Given the description of an element on the screen output the (x, y) to click on. 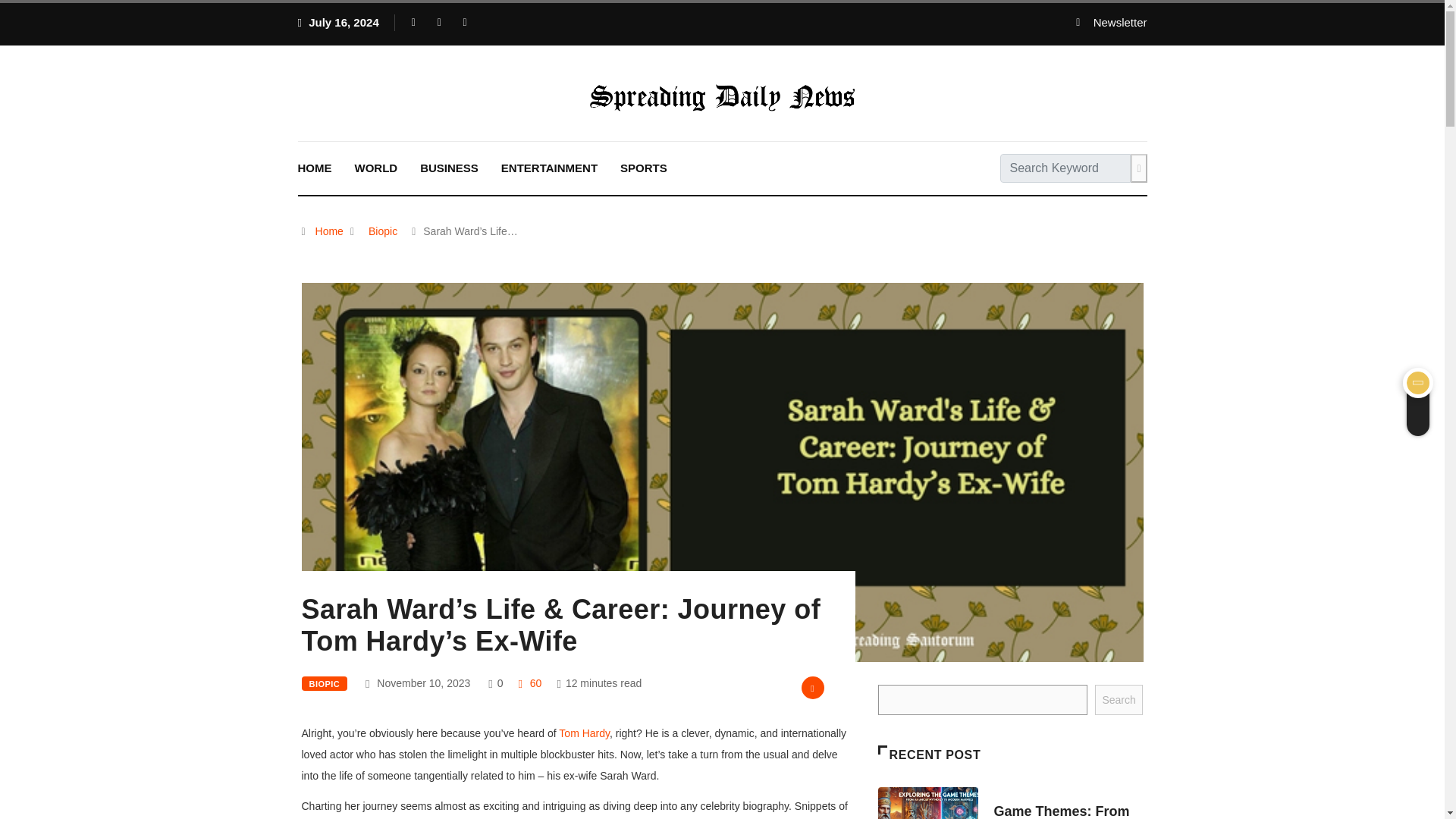
Game Themes: From Ancient Mythology to Modern Marvels (927, 803)
Game Themes: From Ancient Mythology to Modern Marvels (1062, 811)
BUSINESS (449, 167)
Tom Hardy (584, 733)
HOME (314, 167)
SPORTS (643, 167)
Biopic (382, 231)
WORLD (375, 167)
Newsletter (1111, 22)
ENTERTAINMENT (548, 167)
BIOPIC (324, 683)
Home (329, 231)
